Given the description of an element on the screen output the (x, y) to click on. 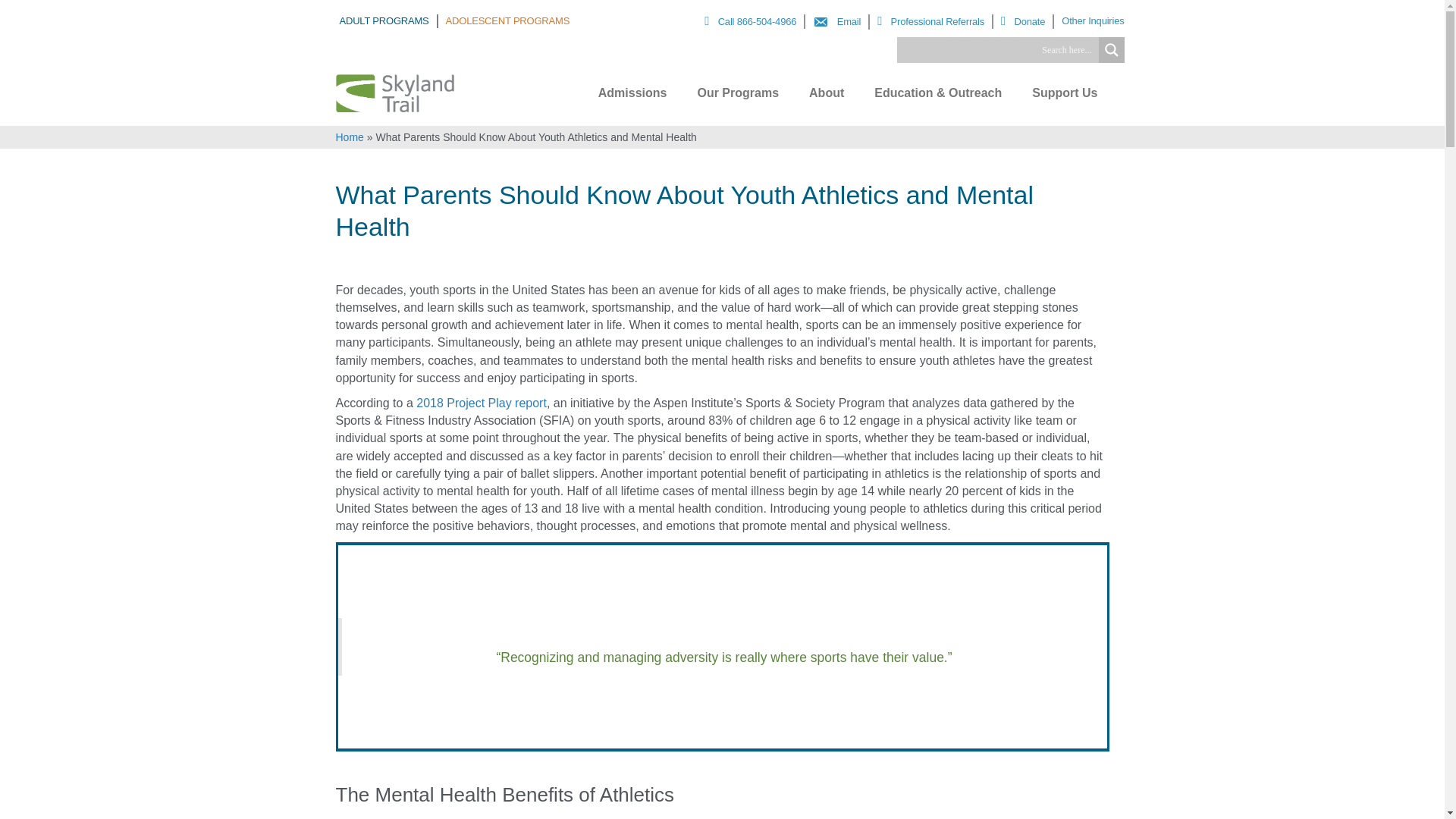
ADULT PROGRAMS (388, 20)
ADOLESCENT PROGRAMS (507, 20)
Other Inquiries (1092, 20)
Email (840, 21)
Our Programs (737, 93)
Professional Referrals (934, 21)
Donate (1027, 21)
Admissions (632, 93)
About (826, 93)
Call 866-504-4966 (754, 21)
